Given the description of an element on the screen output the (x, y) to click on. 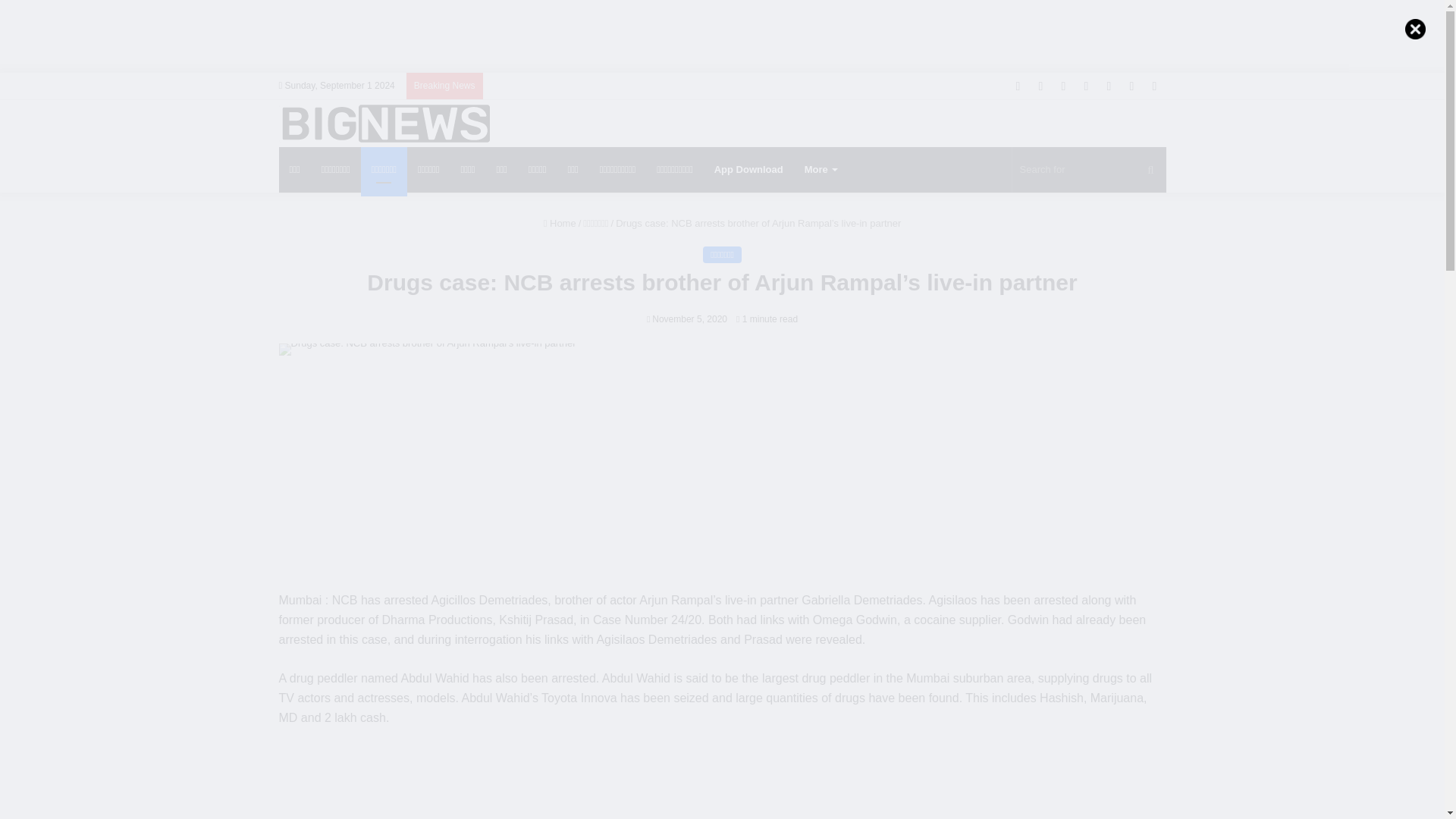
App Download (748, 169)
bignews (384, 123)
Search for (1088, 169)
More (820, 169)
